Given the description of an element on the screen output the (x, y) to click on. 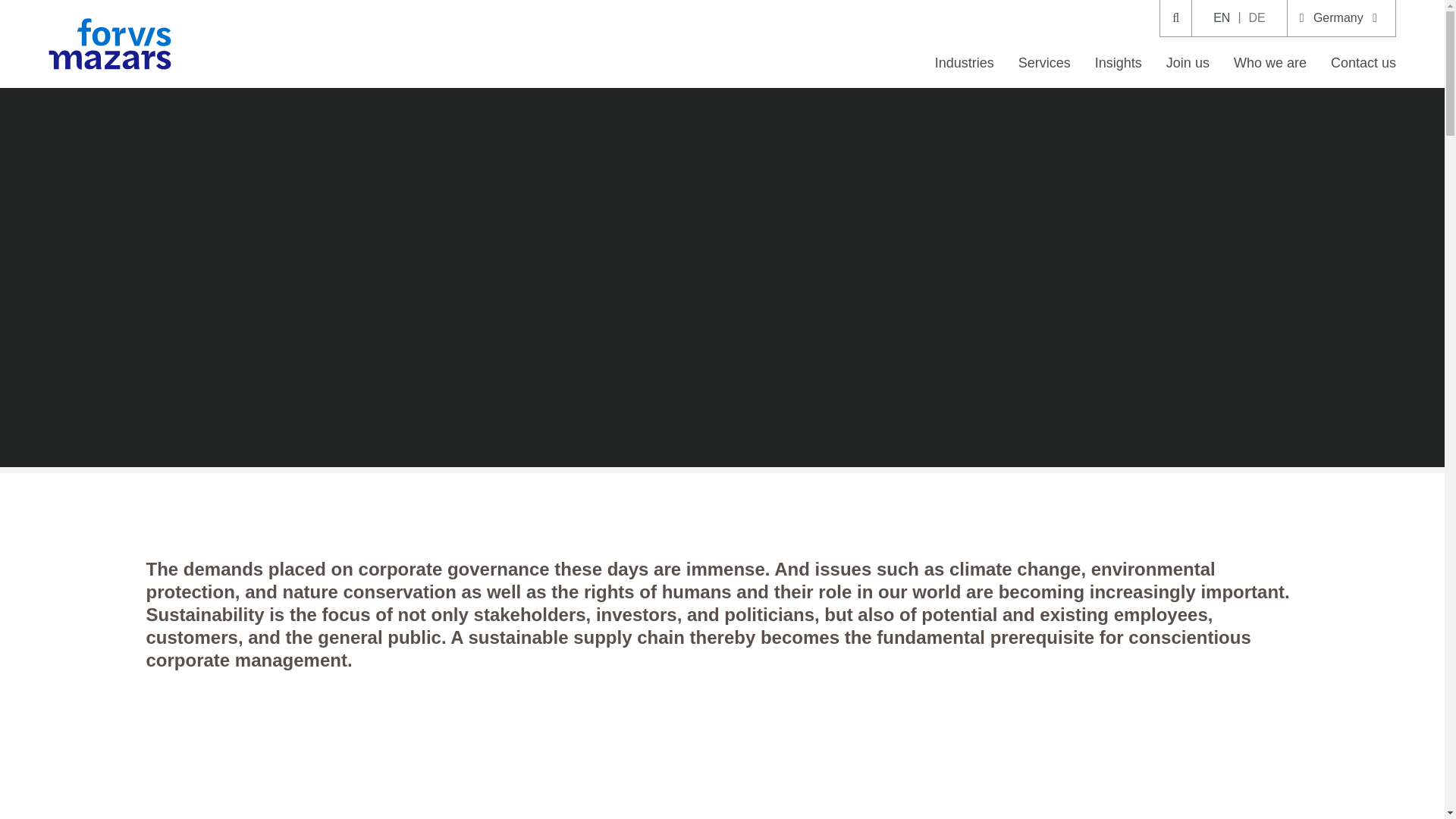
DE (1256, 17)
Germany (1340, 18)
